Given the description of an element on the screen output the (x, y) to click on. 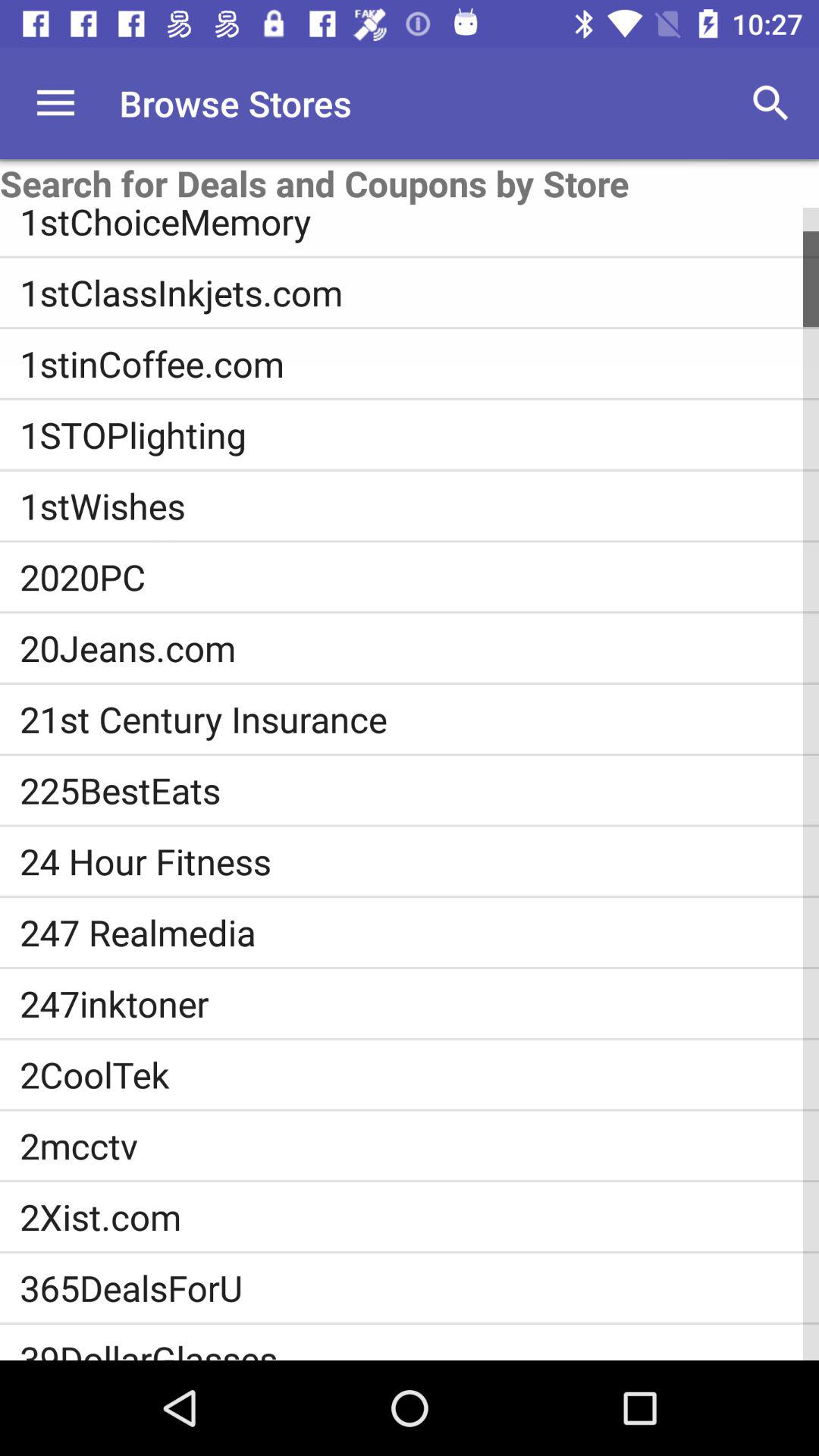
turn on the item above the 2cooltek icon (419, 1003)
